Given the description of an element on the screen output the (x, y) to click on. 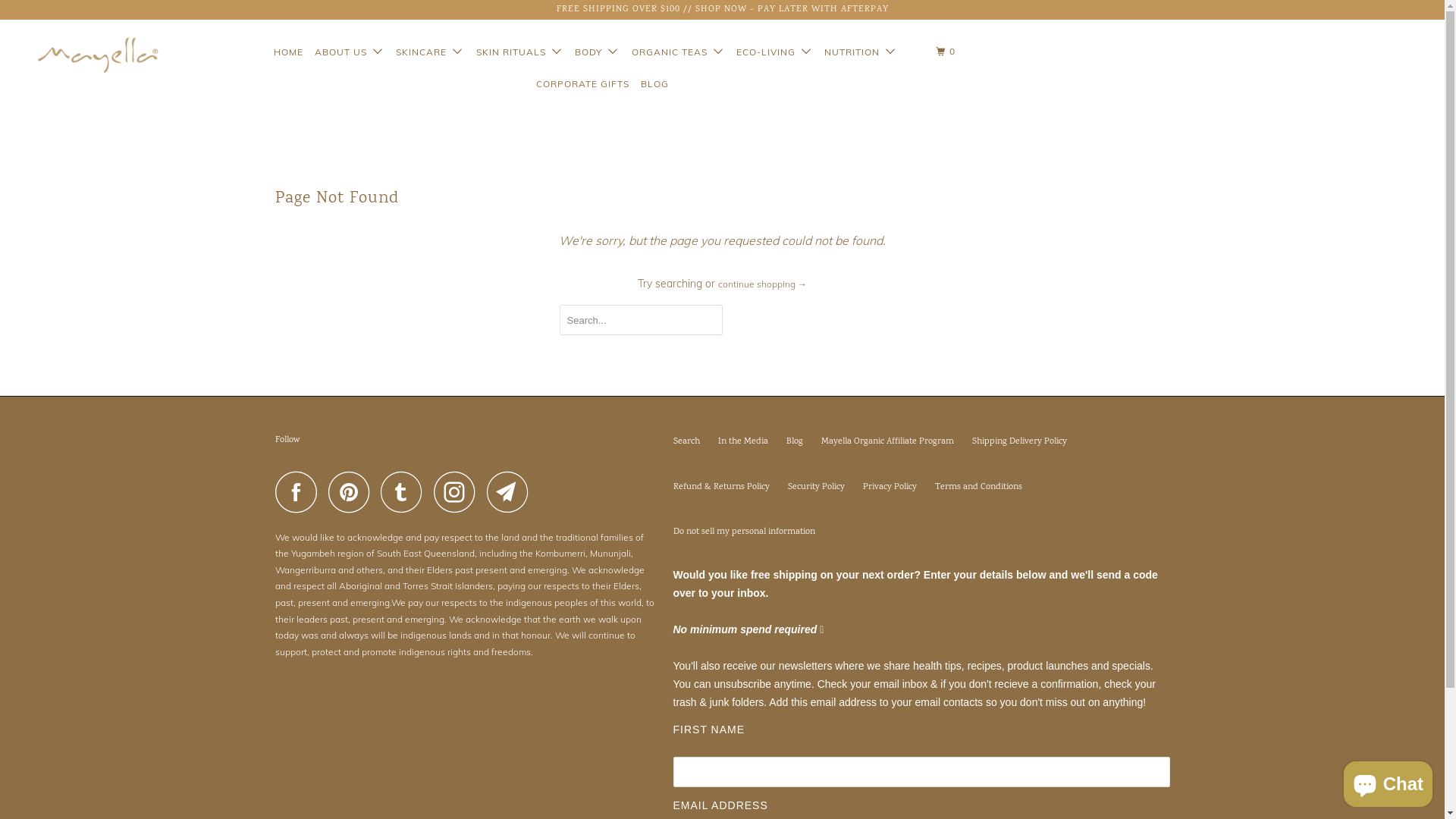
HOME Element type: text (288, 52)
BODY   Element type: text (596, 51)
ECO-LIVING   Element type: text (774, 51)
SKIN RITUALS   Element type: text (519, 51)
Mayella Organics on Facebook Element type: hover (299, 491)
Mayella Organics Element type: hover (85, 54)
Do not sell my personal information Element type: text (744, 531)
Mayella Organics on Pinterest Element type: hover (351, 491)
NUTRITION   Element type: text (860, 51)
Mayella Organics on Tumblr Element type: hover (405, 491)
SKINCARE   Element type: text (429, 51)
Mayella Organic Affiliate Program Element type: text (886, 441)
Email Mayella Organics Element type: hover (511, 491)
Shipping Delivery Policy Element type: text (1019, 441)
ORGANIC TEAS   Element type: text (677, 51)
Shopify online store chat Element type: hover (1388, 780)
Mayella Organics on Instagram Element type: hover (458, 491)
Security Policy Element type: text (815, 486)
Terms and Conditions Element type: text (977, 486)
Privacy Policy Element type: text (889, 486)
ABOUT US   Element type: text (349, 51)
CORPORATE GIFTS Element type: text (581, 84)
In the Media Element type: text (742, 441)
BLOG Element type: text (654, 84)
0 Element type: text (946, 51)
Refund & Returns Policy Element type: text (721, 486)
Search Element type: text (686, 441)
Blog Element type: text (793, 441)
